Given the description of an element on the screen output the (x, y) to click on. 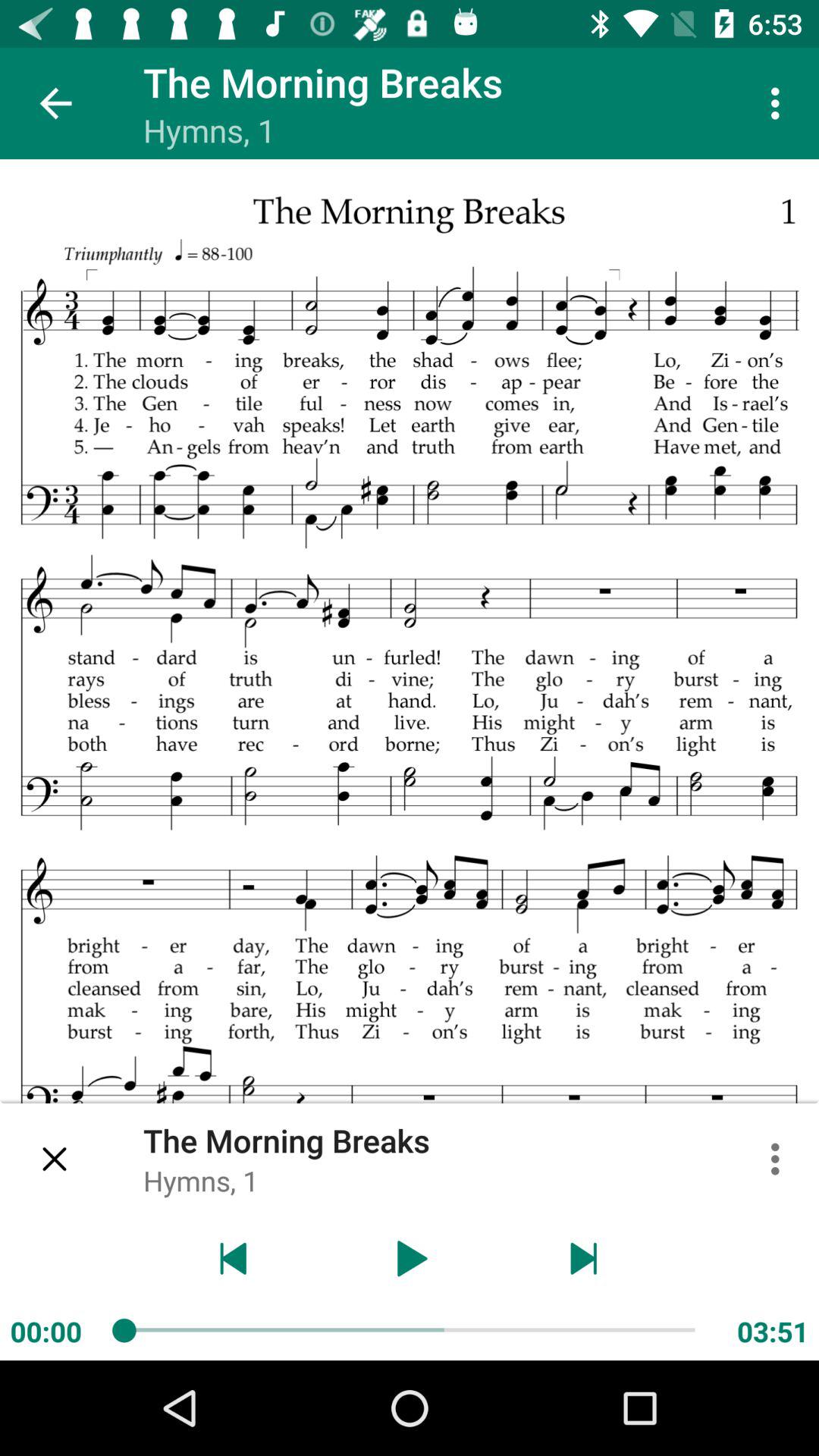
go to back (234, 1258)
